Given the description of an element on the screen output the (x, y) to click on. 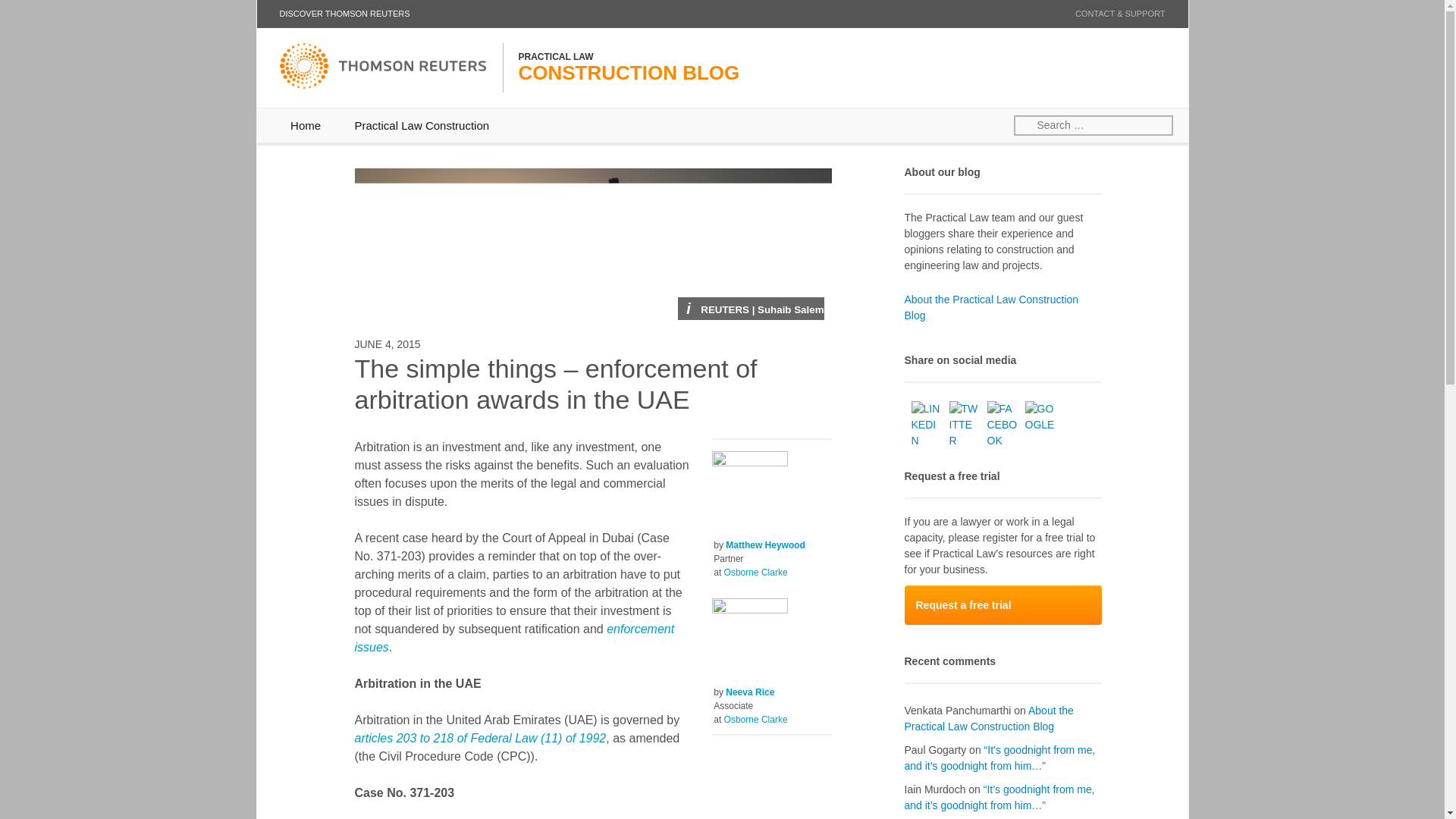
DISCOVER THOMSON REUTERS (344, 13)
Search (37, 14)
Osborne Clarke (755, 719)
Matthew Heywood (765, 544)
Home (305, 125)
enforcement issues (515, 637)
About the Practical Law Construction Blog (988, 718)
Practical Law Construction (422, 125)
GOOGLE (1040, 417)
Neeva Rice (749, 692)
